Given the description of an element on the screen output the (x, y) to click on. 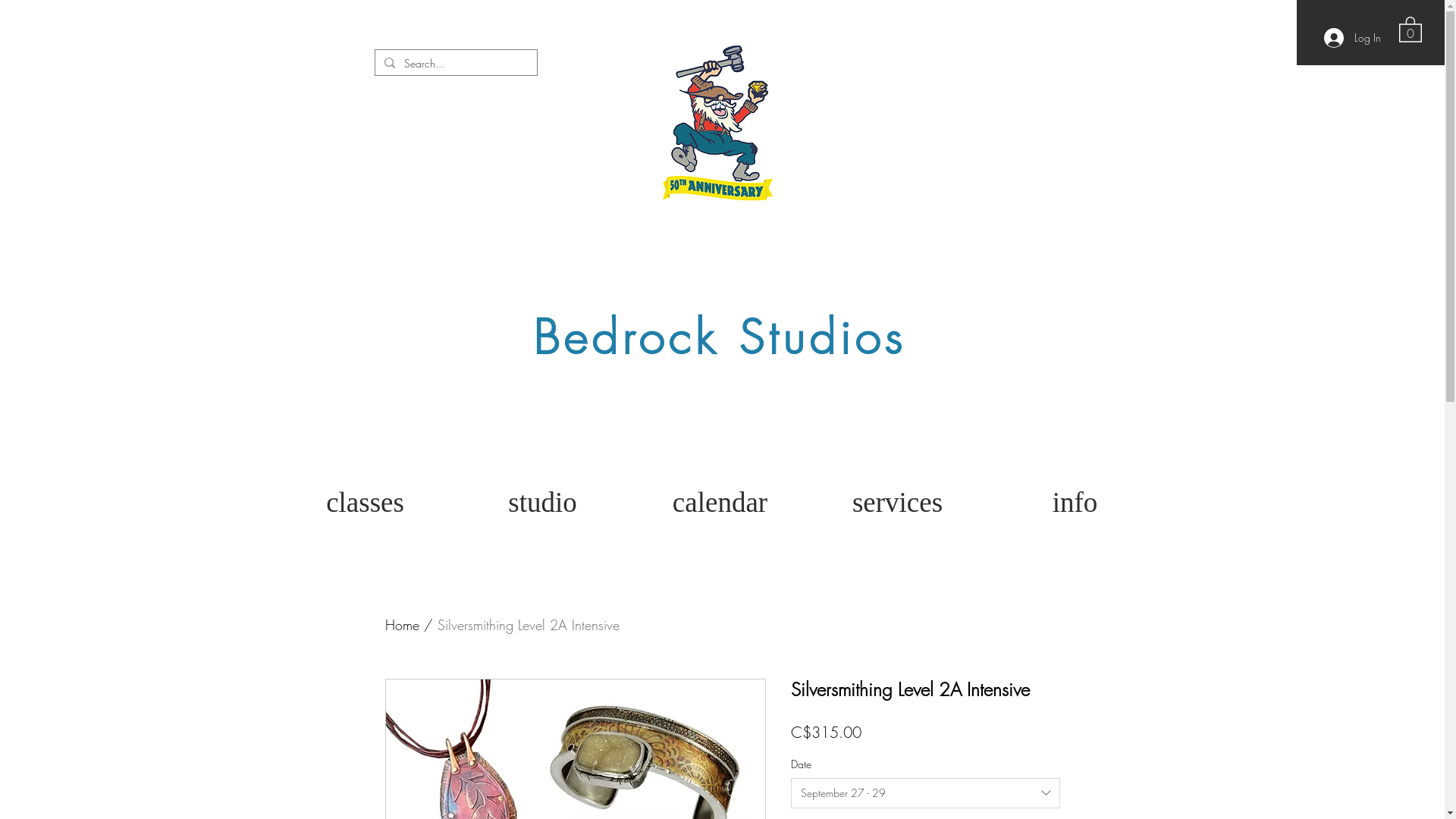
studio Element type: text (541, 502)
info Element type: text (1074, 502)
Silversmithing Level 2A Intensive Element type: text (527, 624)
Log In Element type: text (1352, 37)
0 Element type: text (1410, 28)
classes Element type: text (364, 502)
September 27 - 29 Element type: text (924, 793)
calendar Element type: text (719, 502)
Home Element type: text (402, 624)
services Element type: text (896, 502)
